Given the description of an element on the screen output the (x, y) to click on. 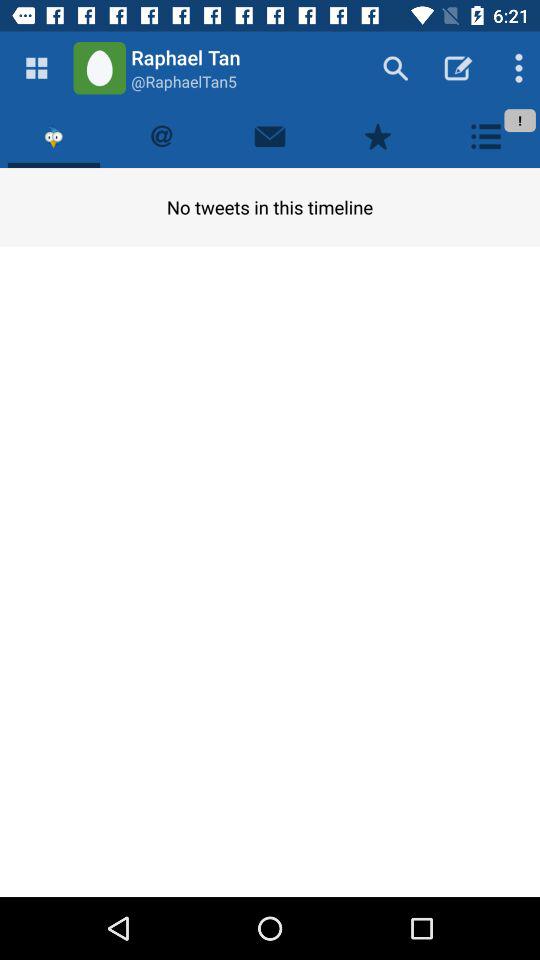
main feed (36, 68)
